Given the description of an element on the screen output the (x, y) to click on. 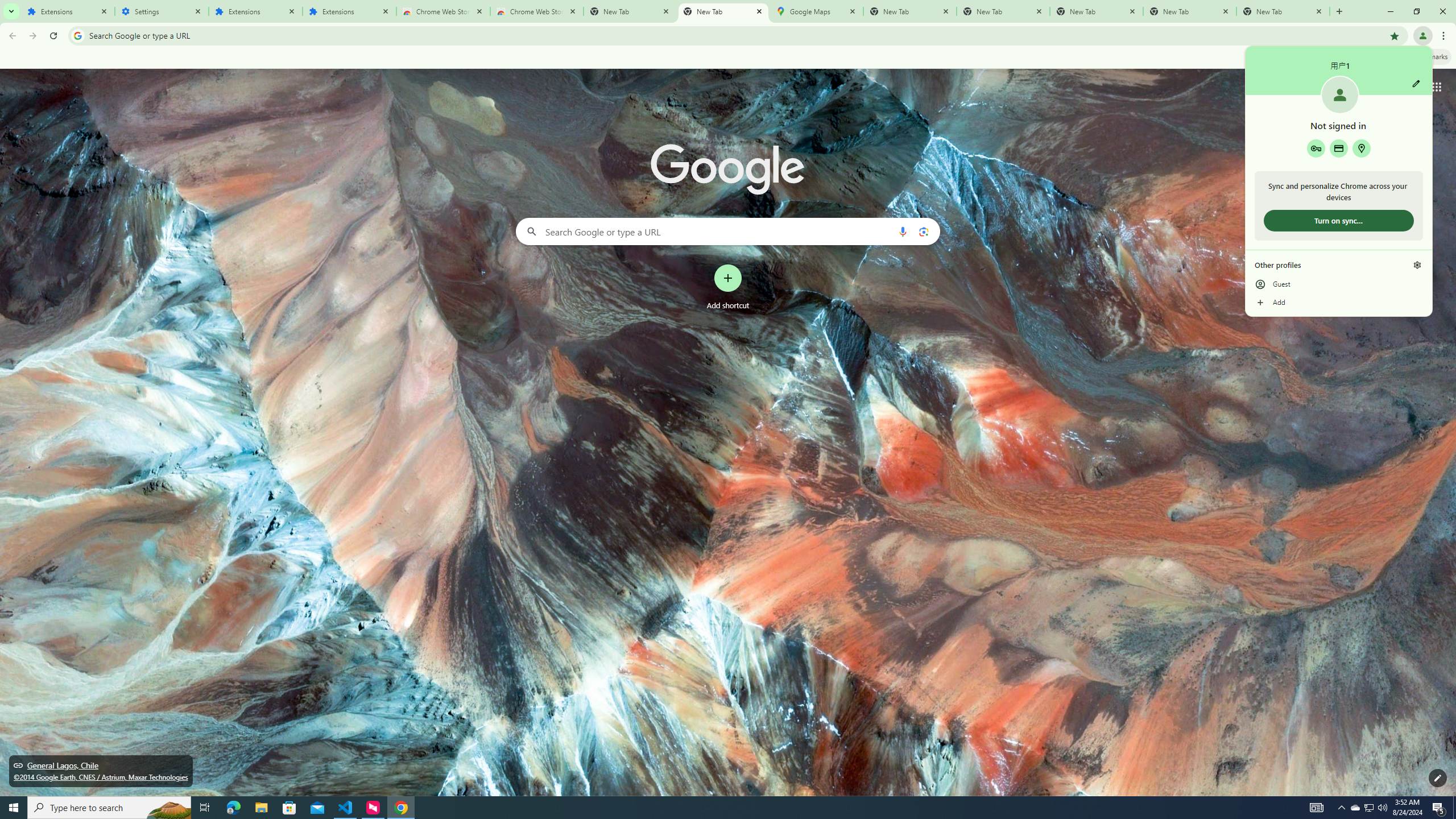
New Tab (722, 11)
Manage profiles (1355, 807)
Search by image (1417, 265)
Action Center, 5 new notifications (922, 230)
User Promoted Notification Area (1439, 807)
Microsoft Edge (1368, 807)
File Explorer (233, 807)
Start (261, 807)
Show desktop (13, 807)
Address and search bar (1454, 807)
